Given the description of an element on the screen output the (x, y) to click on. 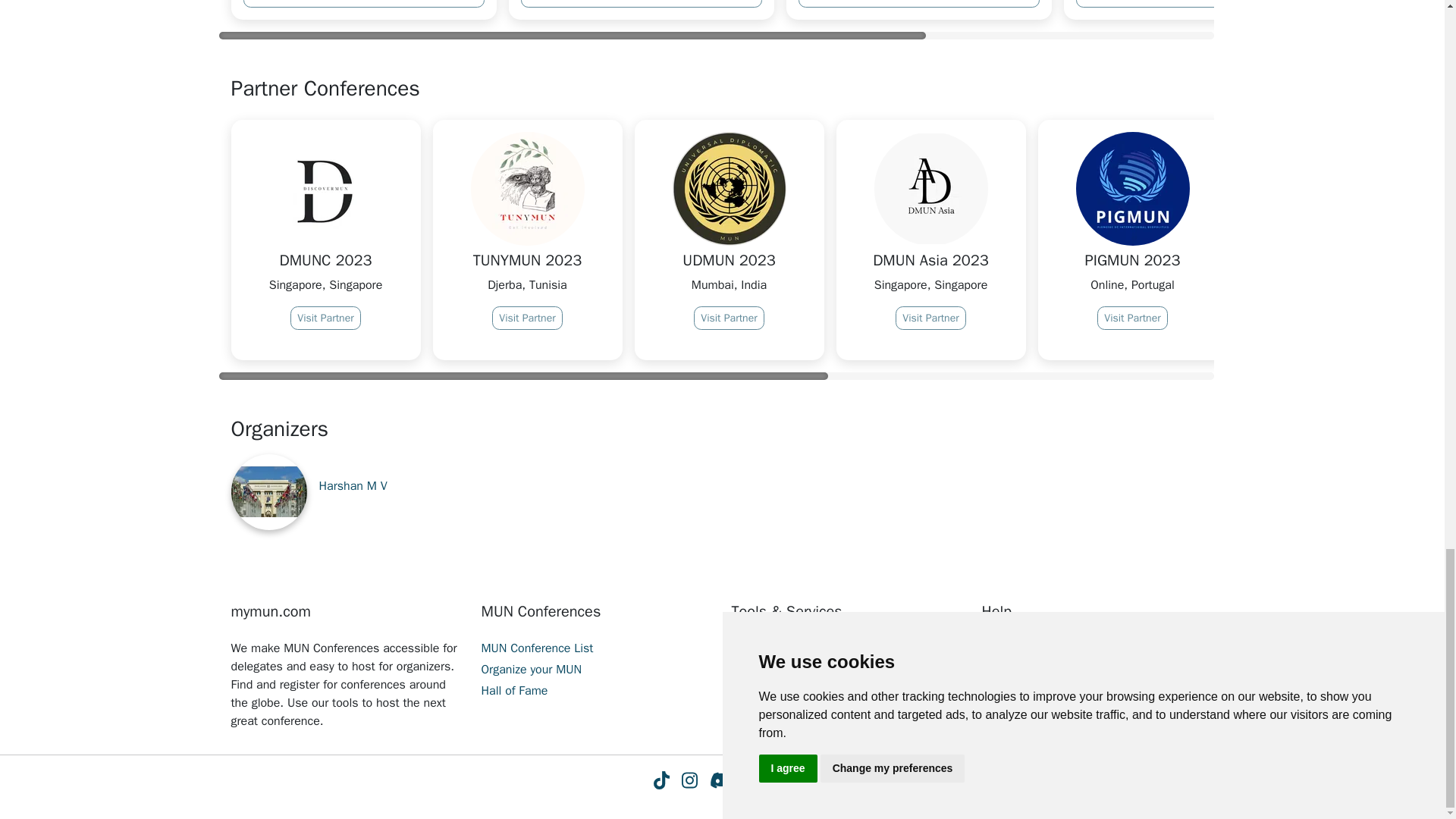
Visit Partner (1132, 318)
View Members (363, 3)
Visit Partner (1333, 336)
Visit Partner (728, 318)
Visit Partner (324, 318)
Visit Partner (930, 318)
View Members (640, 3)
Visit Partner (527, 318)
Harshan M V (352, 485)
View Members (918, 3)
View Members (1195, 3)
